Given the description of an element on the screen output the (x, y) to click on. 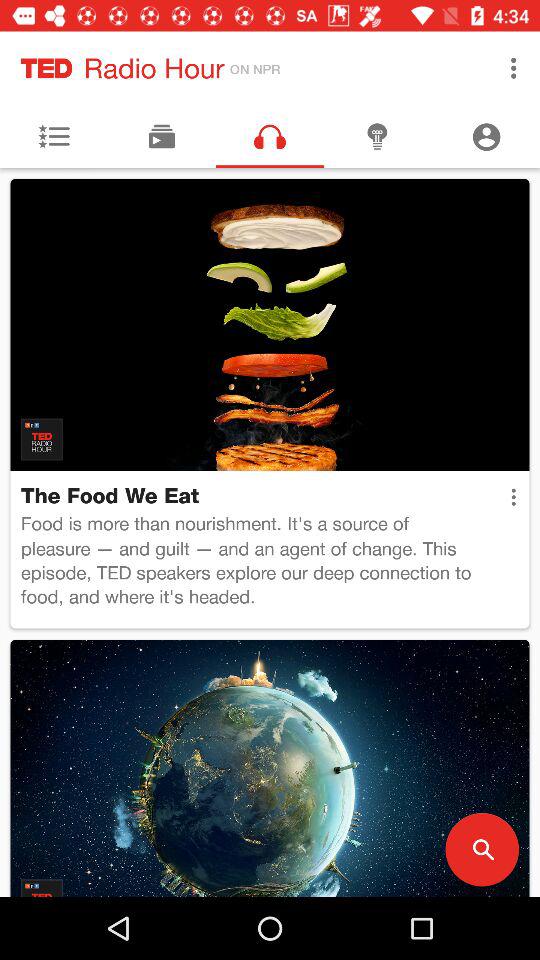
select icon on the right (513, 497)
